Given the description of an element on the screen output the (x, y) to click on. 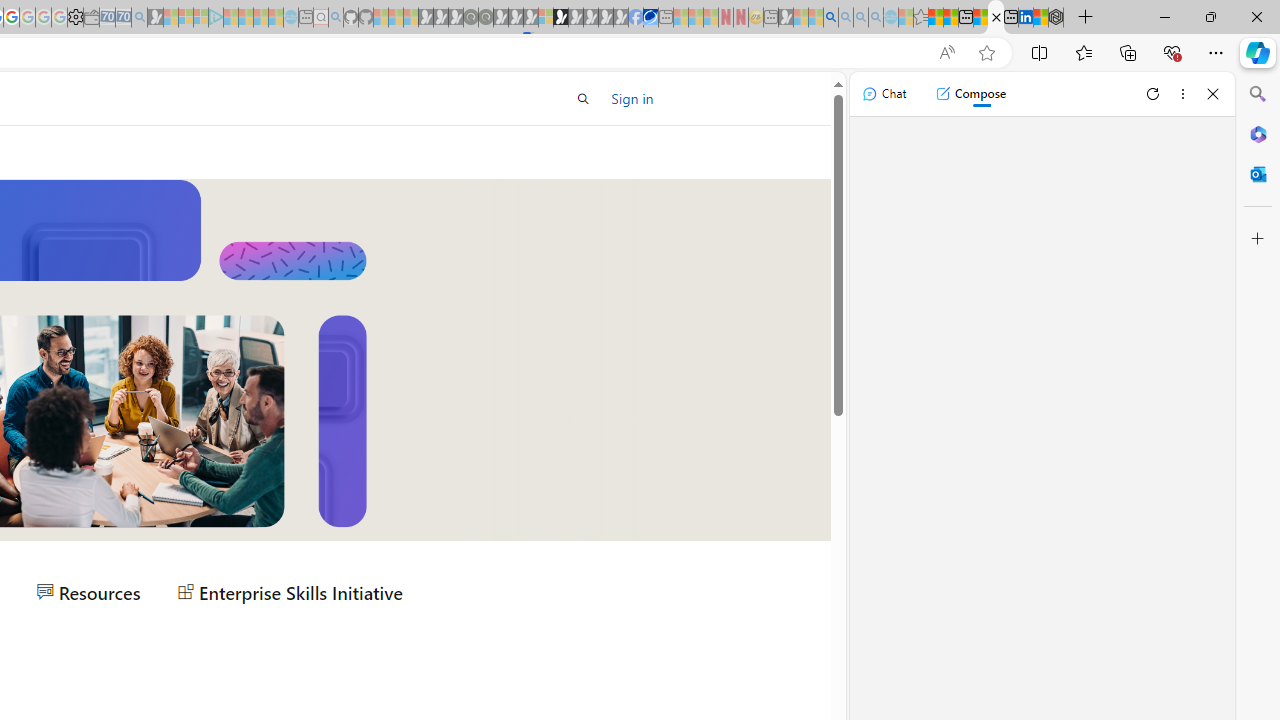
Cheap Car Rentals - Save70.com - Sleeping (123, 17)
LinkedIn (1025, 17)
Chat (884, 93)
Enterprise Skills Initiative (290, 592)
github - Search - Sleeping (336, 17)
